Given the description of an element on the screen output the (x, y) to click on. 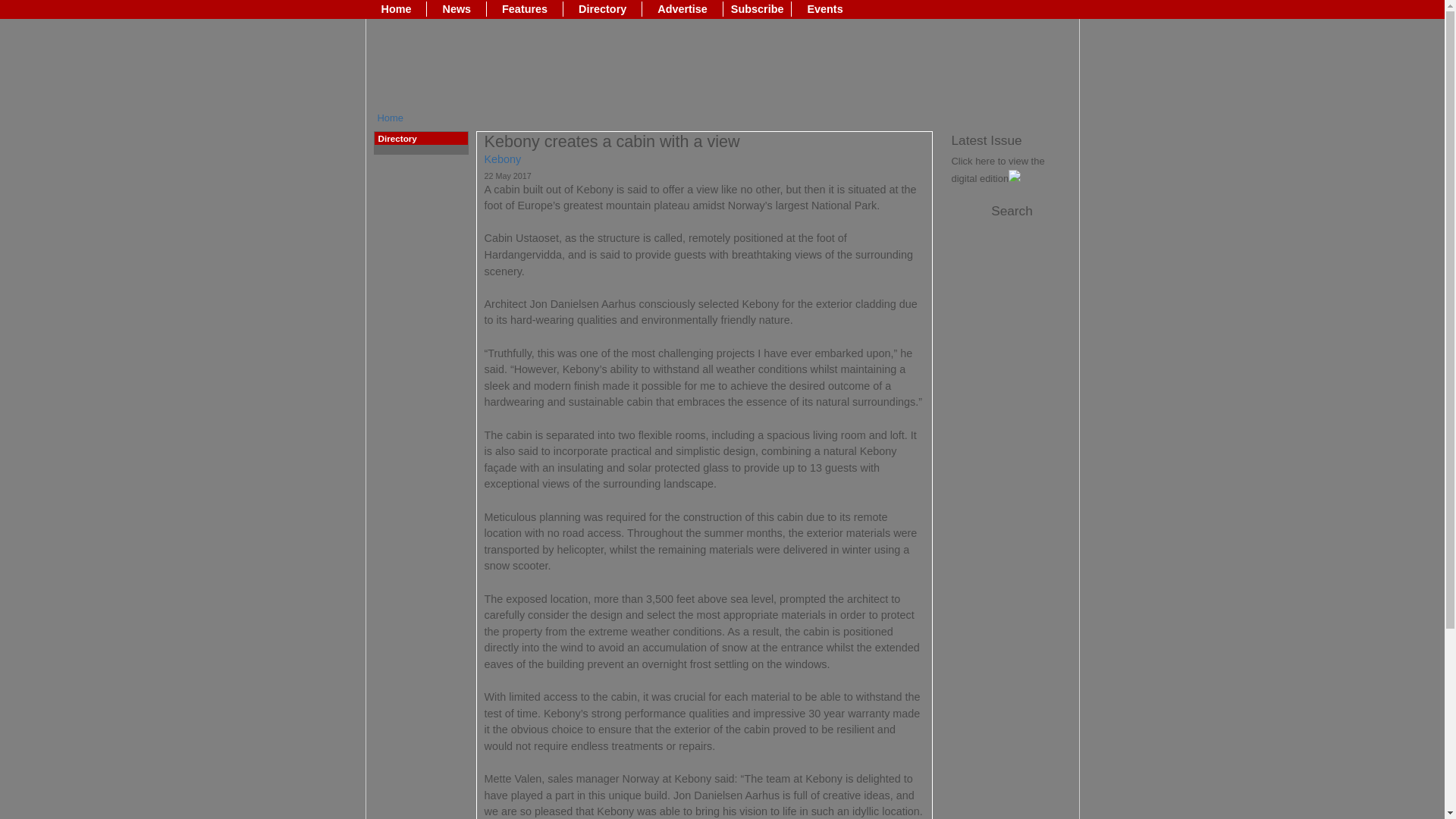
News (456, 9)
Directory (601, 9)
Kebony (502, 159)
Advertise (681, 9)
Features (524, 9)
Home (395, 9)
Home (390, 117)
Events (824, 9)
